Given the description of an element on the screen output the (x, y) to click on. 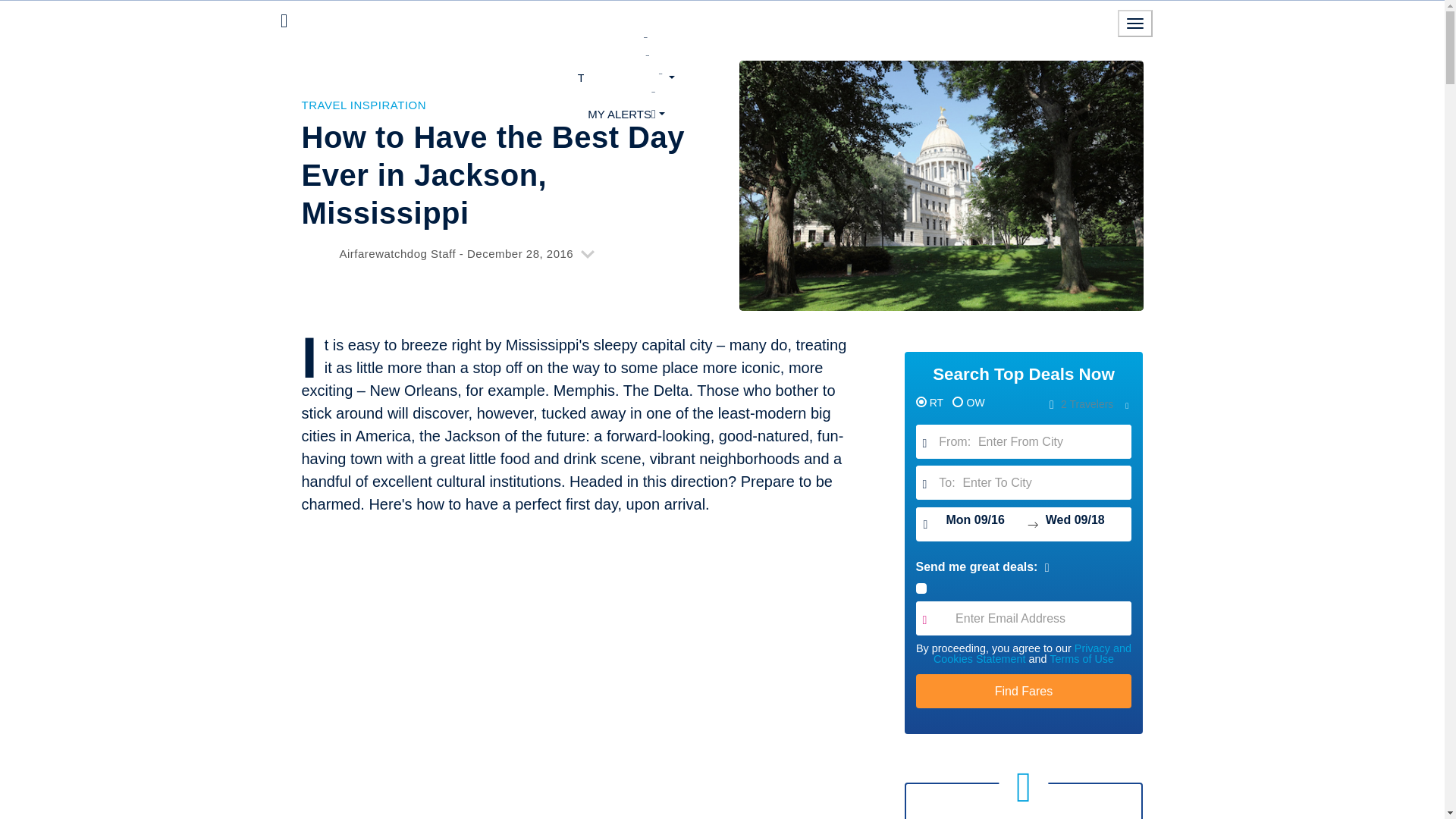
AIRLINES (625, 58)
TRAVEL BLOG (626, 77)
Toggle navigation (1135, 22)
FLIGHTS (625, 40)
